Given the description of an element on the screen output the (x, y) to click on. 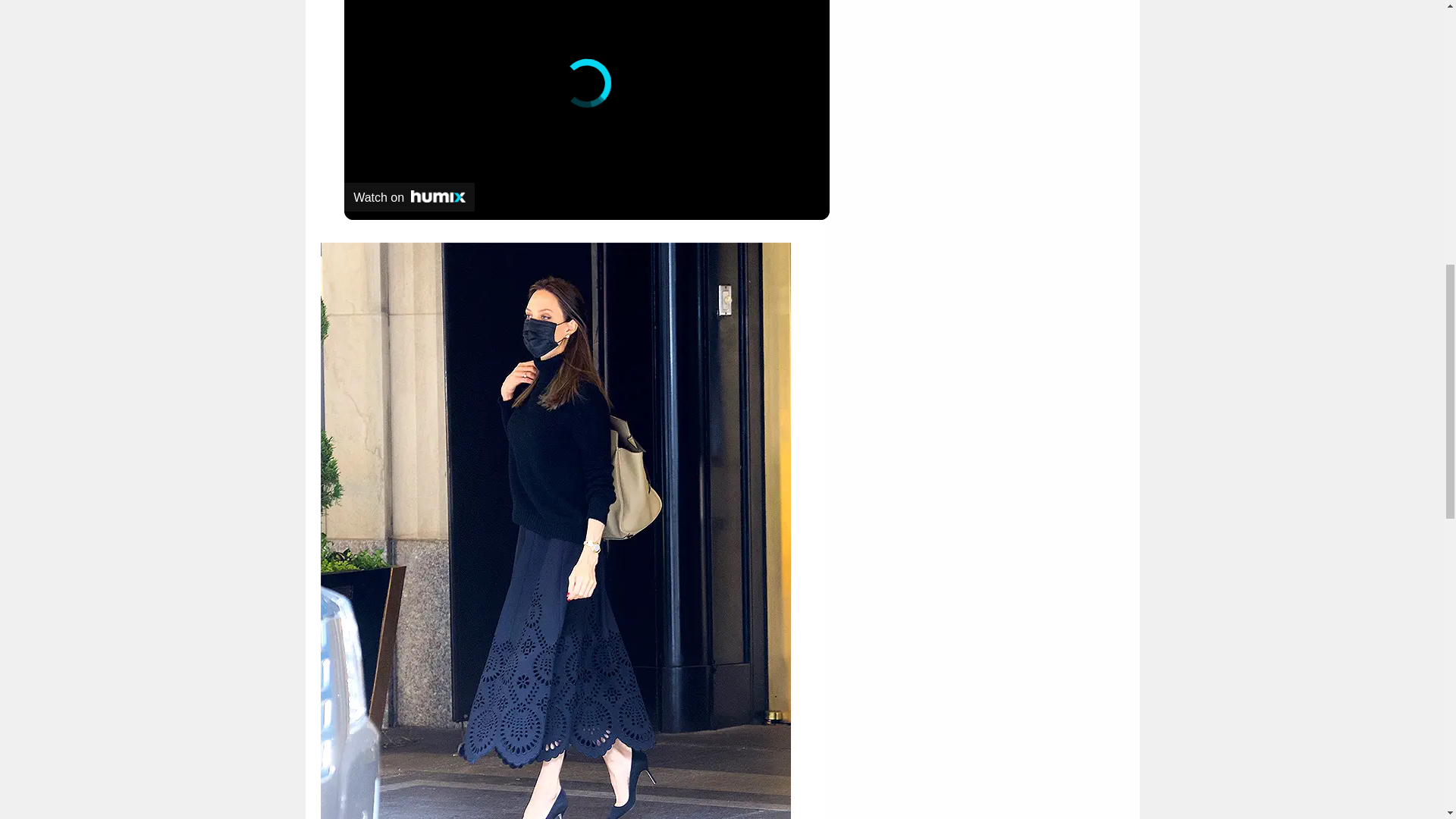
Watch on (408, 195)
